Given the description of an element on the screen output the (x, y) to click on. 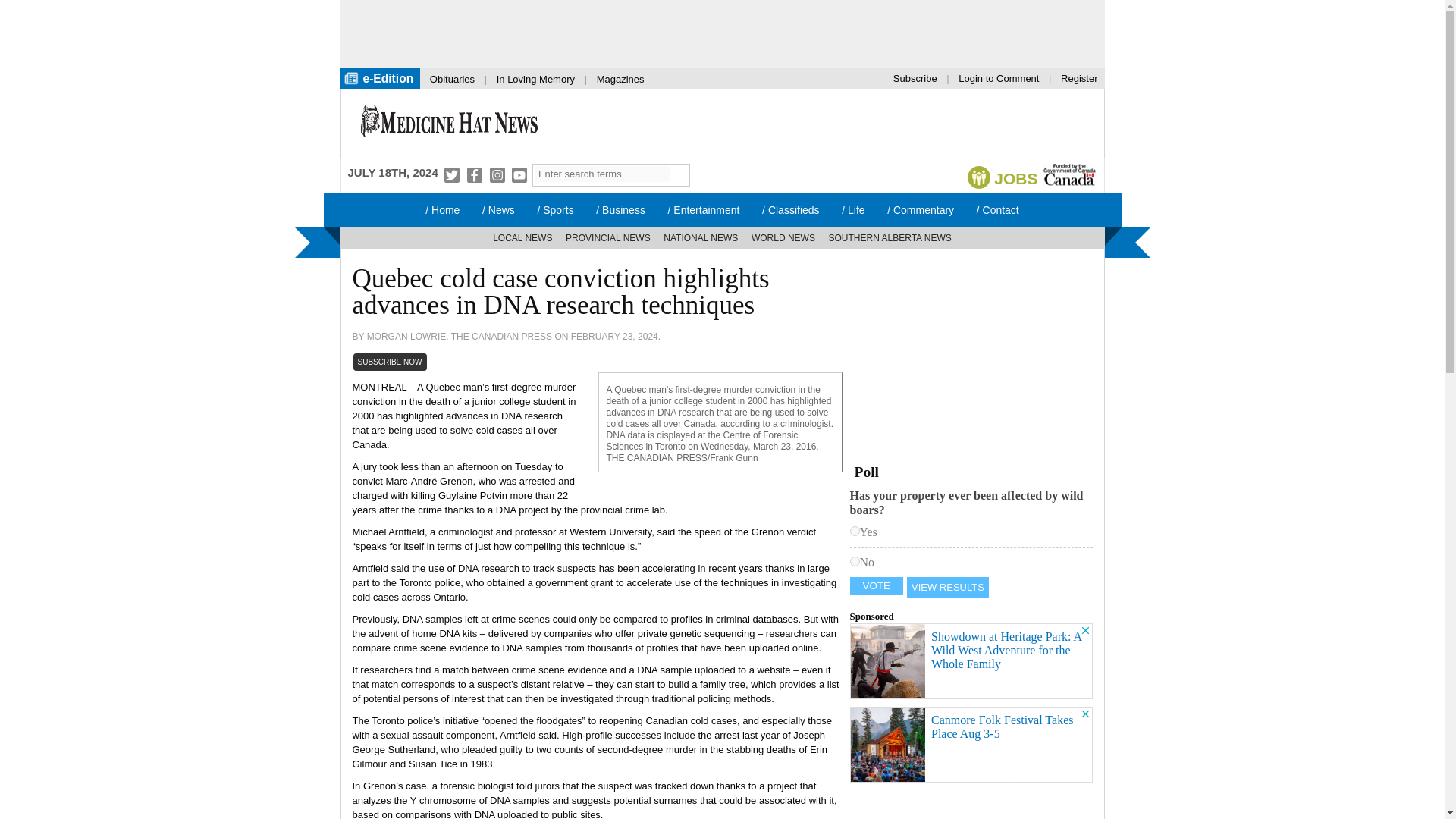
Sports (555, 209)
Classifieds (790, 209)
VIEW RESULTS (947, 587)
9197 (853, 531)
3rd party ad content (244, 265)
9198 (853, 561)
Home (449, 123)
3rd party ad content (827, 123)
Contact (997, 209)
LOCAL NEWS (522, 238)
e-Edition (379, 77)
3rd party ad content (962, 355)
Register (1078, 77)
3rd party ad content (970, 661)
